Given the description of an element on the screen output the (x, y) to click on. 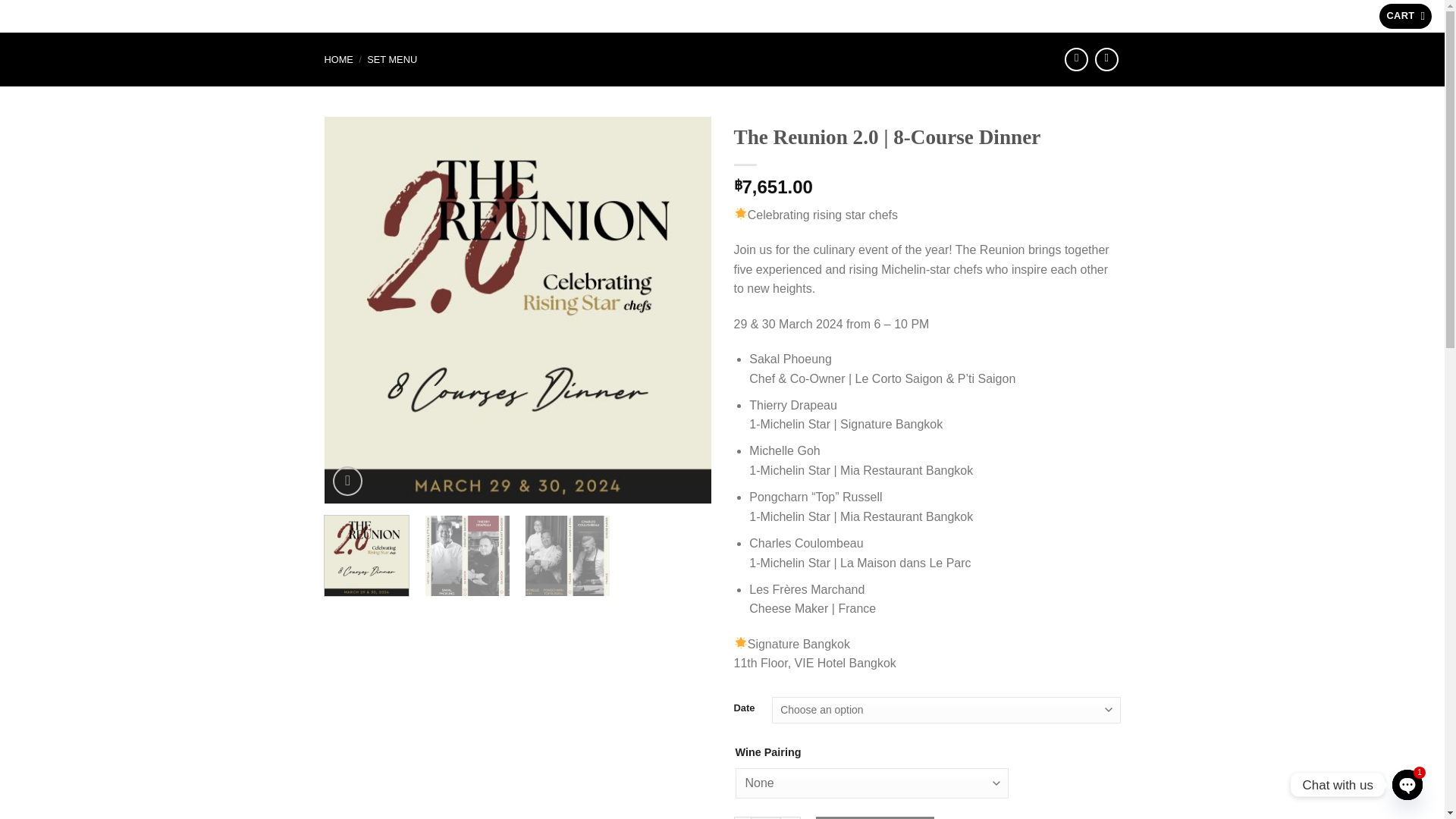
1 (765, 817)
HOME (338, 59)
Cart (1404, 16)
SET MENU (391, 59)
- (742, 817)
ADD TO CART (874, 817)
CART (1404, 16)
Zoom (347, 481)
